Given the description of an element on the screen output the (x, y) to click on. 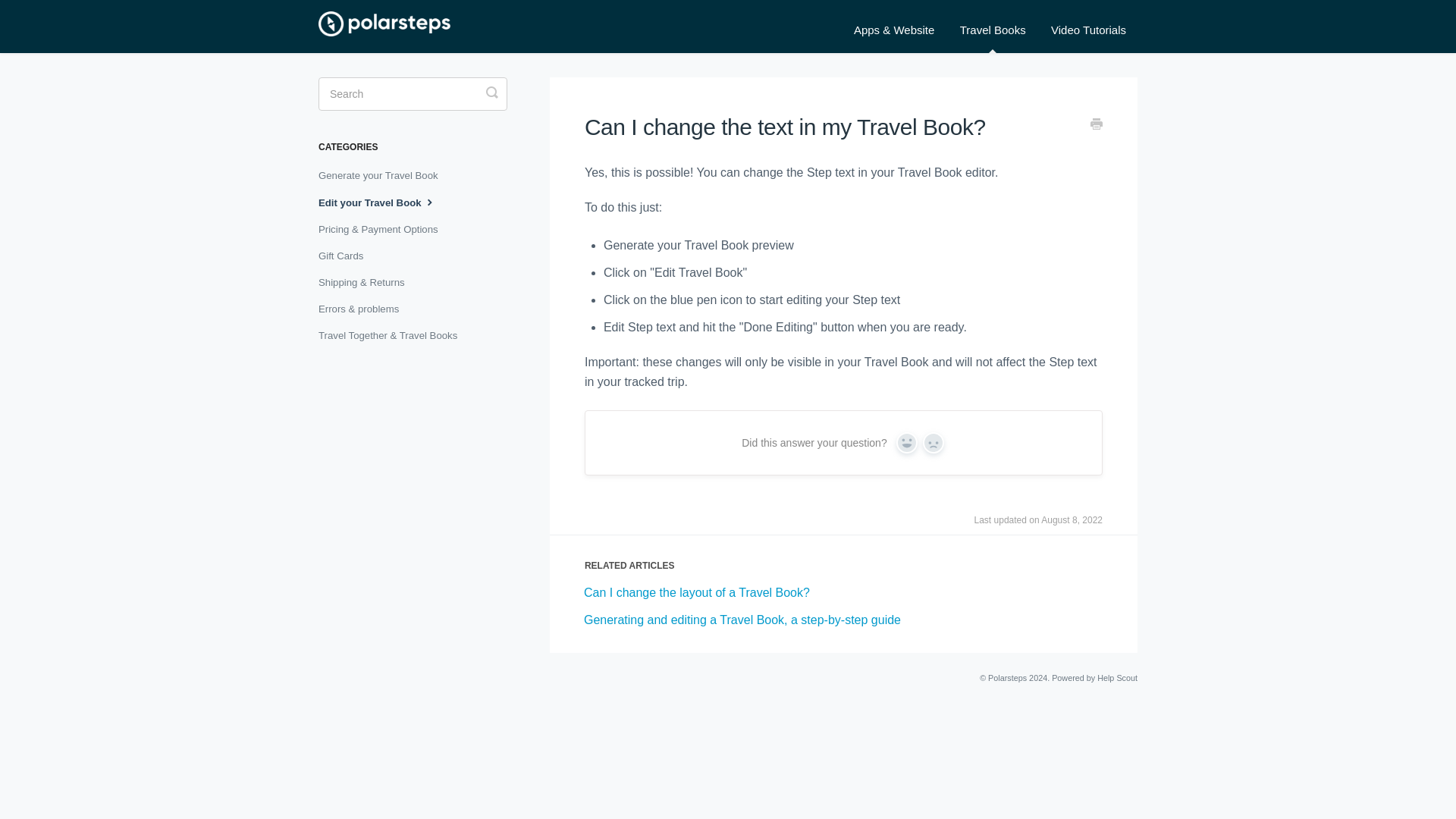
Polarsteps Help Center (391, 26)
Edit your Travel Book (383, 202)
No (933, 442)
Gift Cards (346, 256)
Generate your Travel Book (383, 175)
Print this article (1096, 125)
Can I change the layout of a Travel Book? (696, 592)
Generating and editing a Travel Book, a step-by-step guide (742, 619)
search-query (412, 93)
Video Tutorials (1088, 30)
Toggle Search (491, 91)
Polarsteps (1007, 677)
Travel Books (992, 30)
Yes (906, 442)
Help Scout (1117, 677)
